Given the description of an element on the screen output the (x, y) to click on. 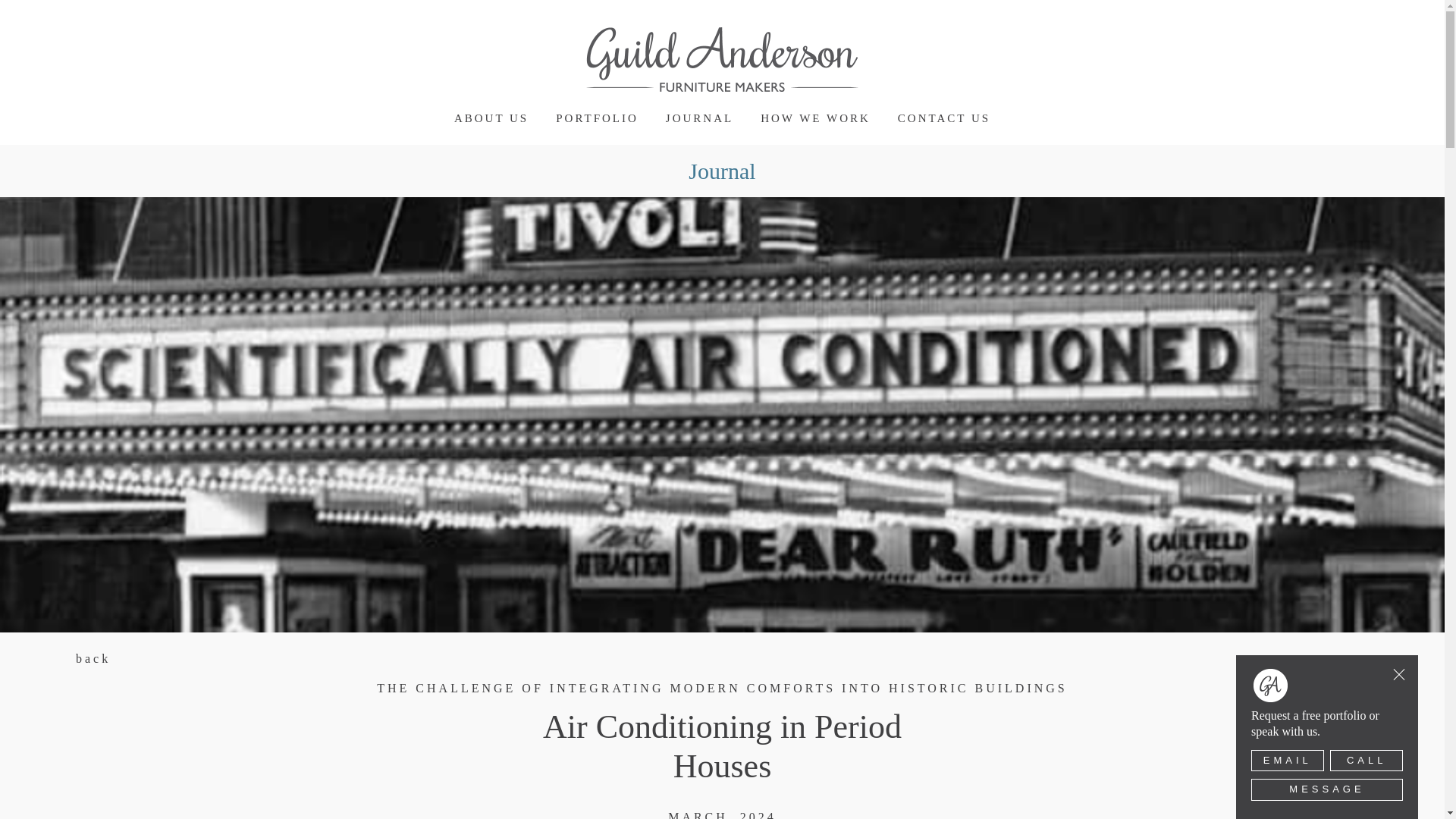
CALL (1366, 761)
MESSAGE (1326, 789)
EMAIL (1286, 761)
ABOUT US (491, 118)
CONTACT US (944, 118)
PORTFOLIO (597, 118)
back (92, 658)
Guild Anderson -  (721, 59)
JOURNAL (699, 118)
HOW WE WORK (815, 118)
Guild Anderson -  (722, 59)
